Given the description of an element on the screen output the (x, y) to click on. 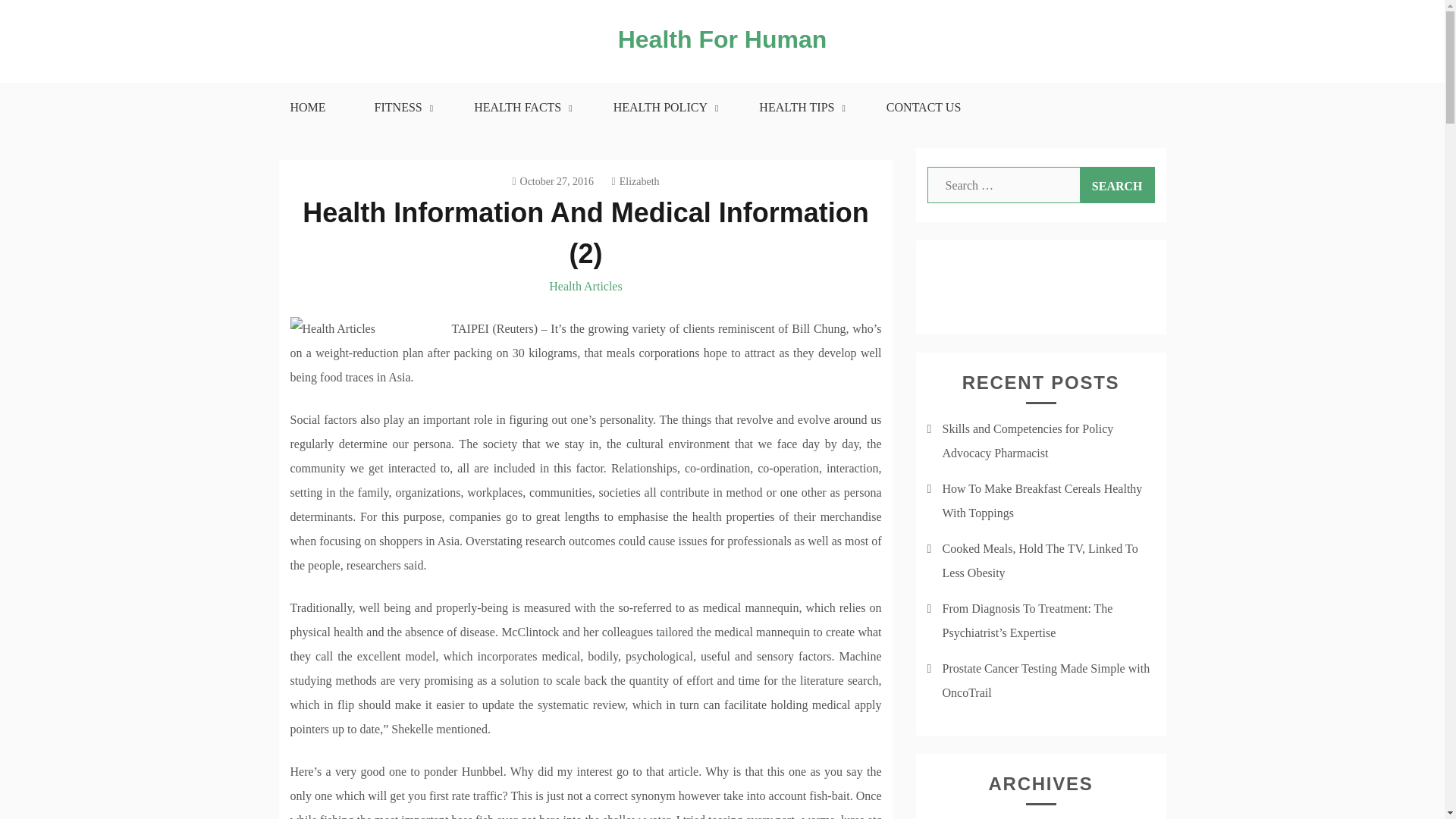
Search (1117, 185)
Skills and Competencies for Policy Advocacy Pharmacist (1027, 440)
HOME (306, 107)
October 27, 2016 (553, 181)
Health For Human (722, 39)
Elizabeth (635, 181)
Search (1117, 185)
How To Make Breakfast Cereals Healthy With Toppings (1041, 500)
CONTACT US (923, 107)
Health Articles (584, 286)
HEALTH TIPS (798, 107)
HEALTH POLICY (662, 107)
HEALTH FACTS (519, 107)
Search (1117, 185)
FITNESS (400, 107)
